Given the description of an element on the screen output the (x, y) to click on. 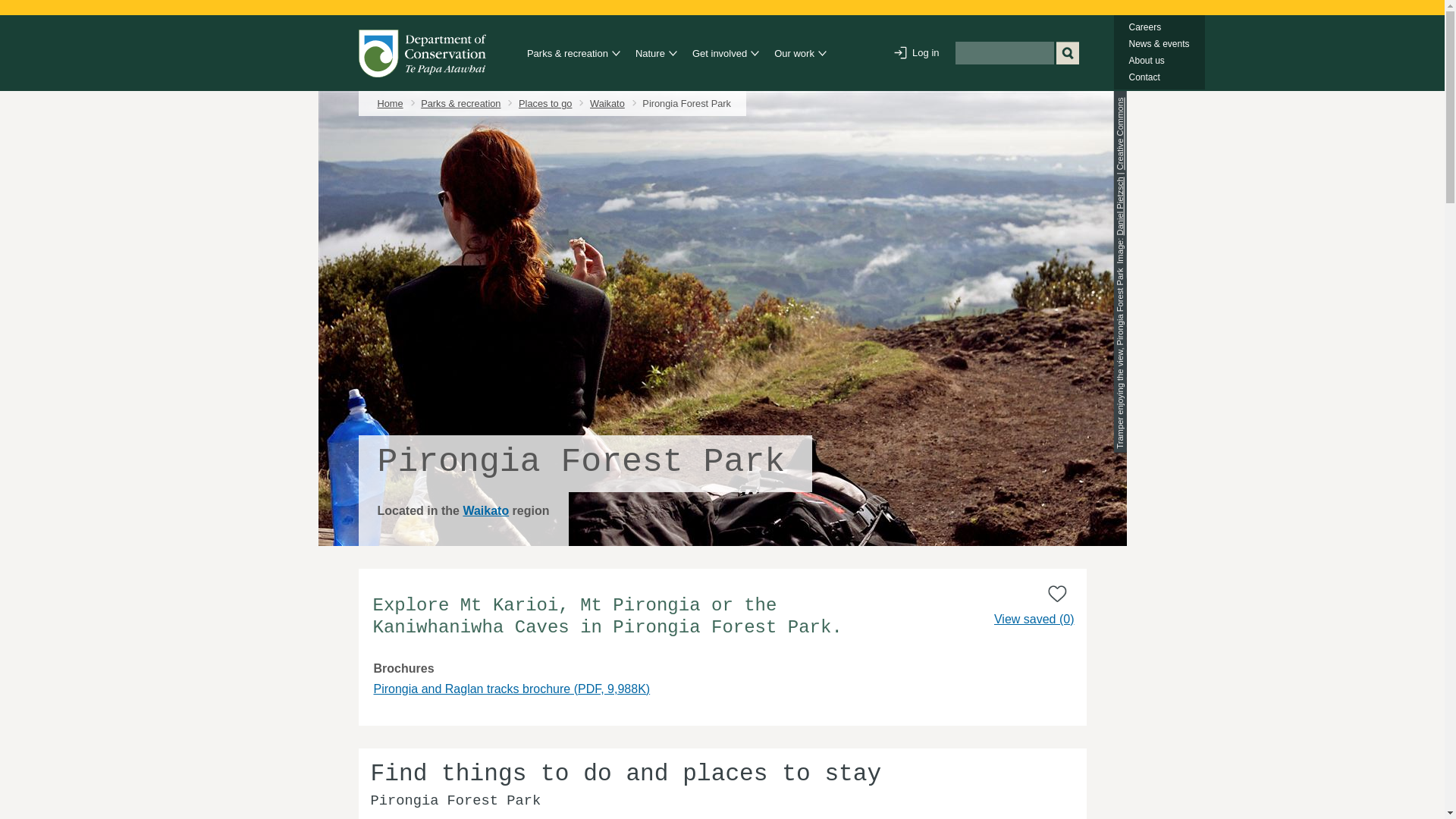
Add to wishlist (1057, 592)
Search (1066, 52)
Nature (651, 53)
Get involved (722, 53)
Search (1066, 52)
Search (1066, 52)
